Given the description of an element on the screen output the (x, y) to click on. 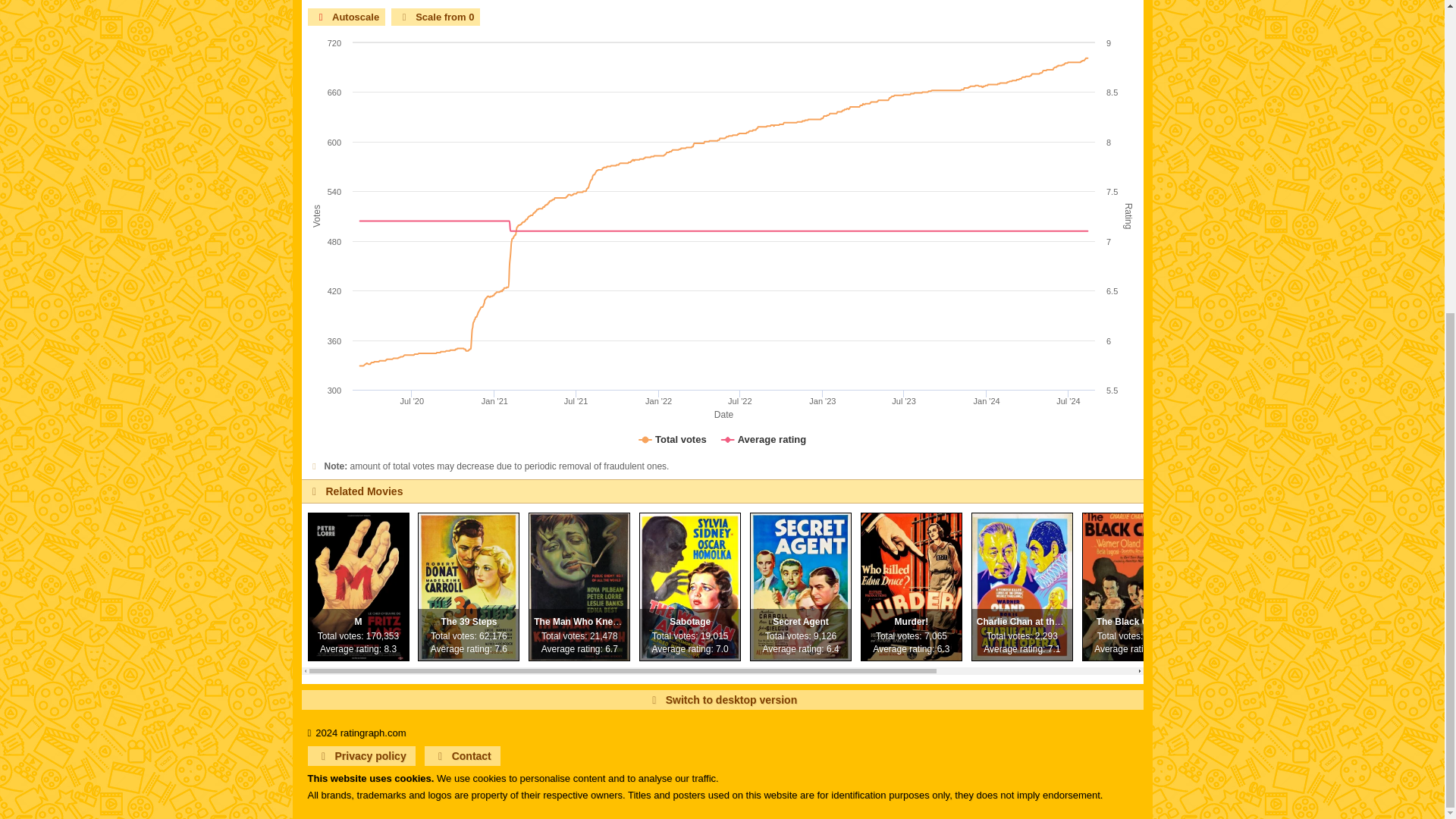
Contact (462, 755)
Privacy policy (360, 755)
Switch to desktop version (721, 700)
